Given the description of an element on the screen output the (x, y) to click on. 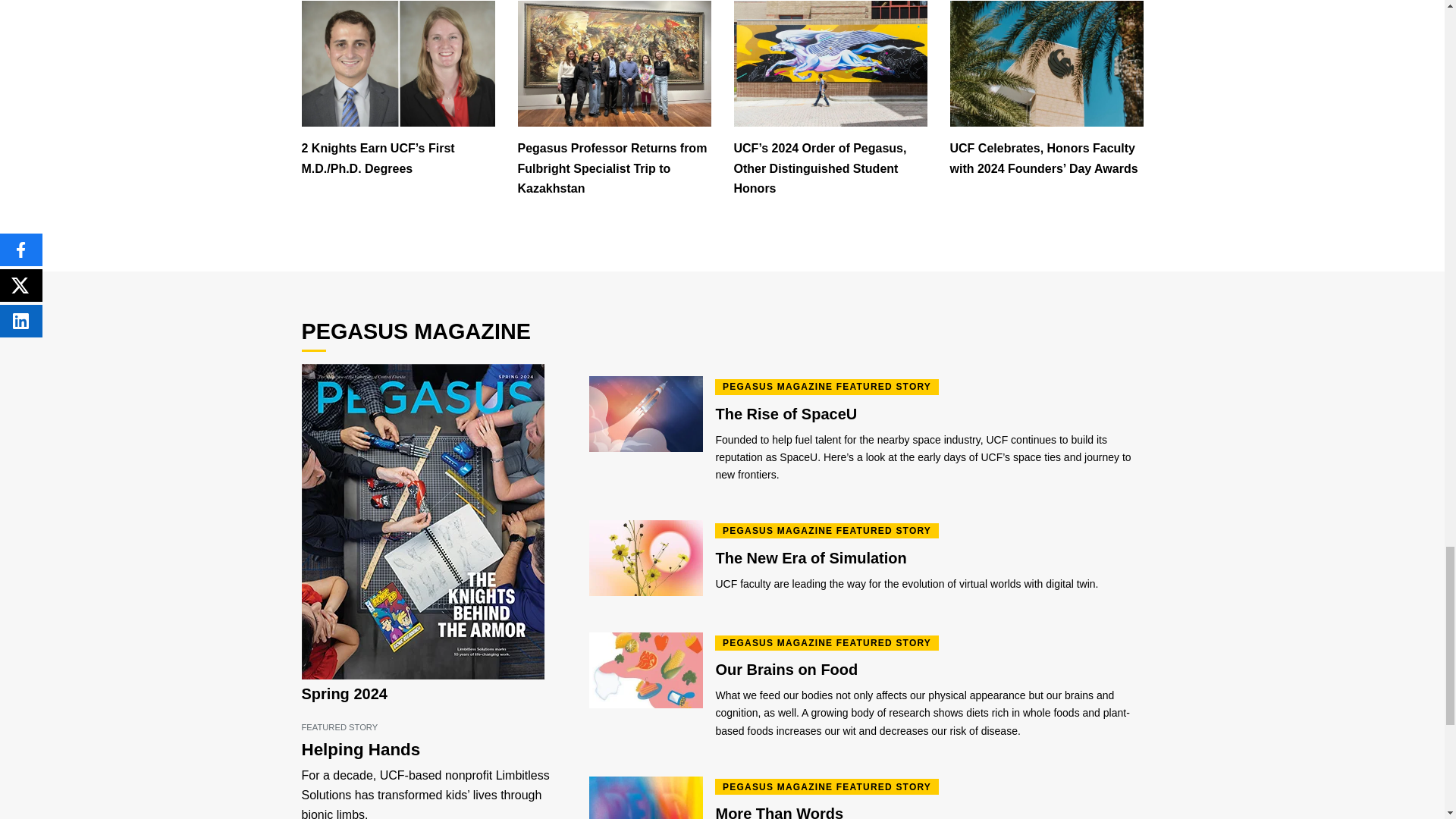
The New Era of Simulation (928, 559)
The Rise of SpaceU (928, 415)
Our Brains on Food (928, 670)
More Than Words (928, 812)
Spring 2024 (344, 693)
Helping Hands (434, 750)
